Given the description of an element on the screen output the (x, y) to click on. 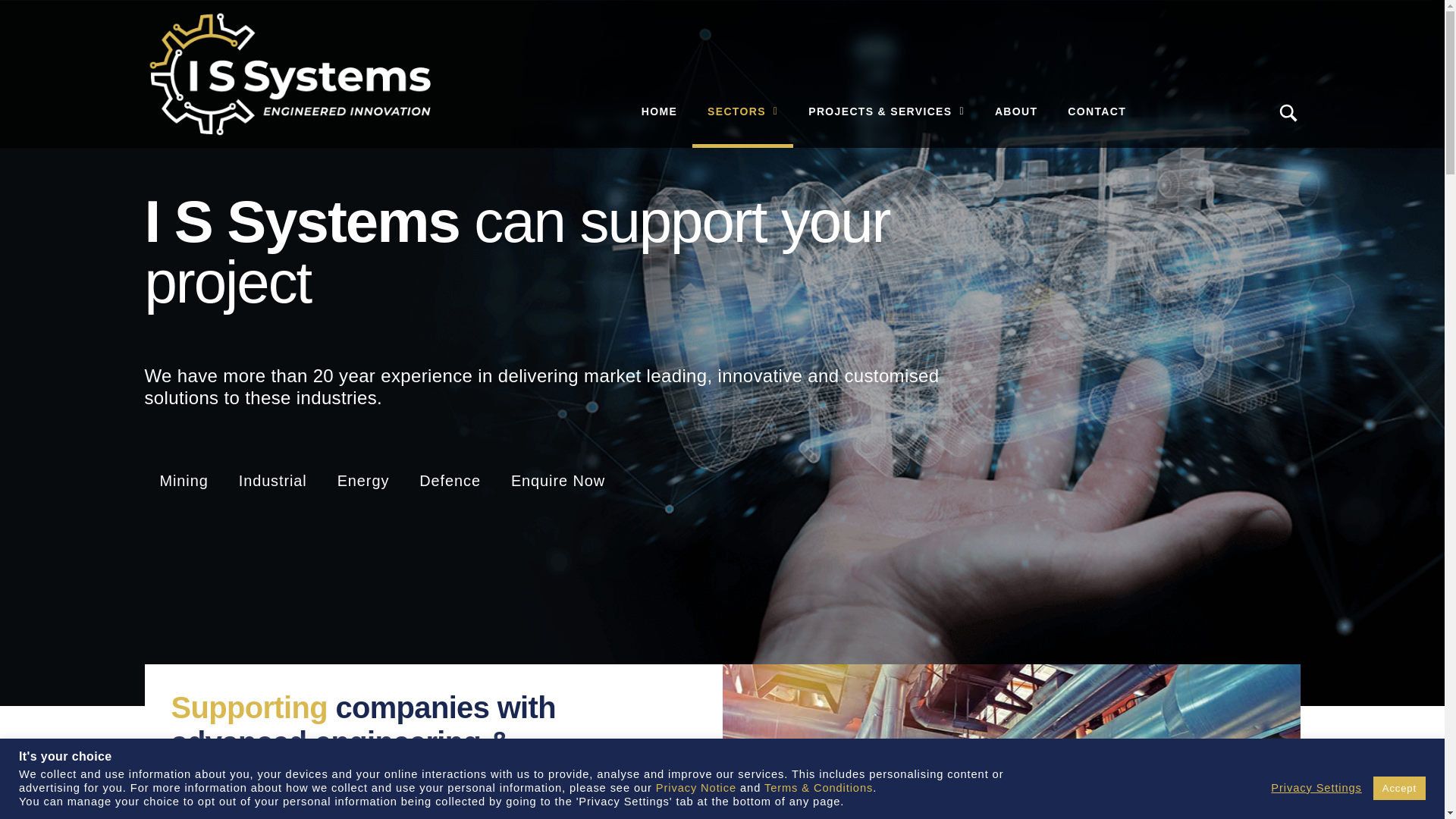
SECTORS (743, 111)
CONTACT (1096, 111)
ABOUT (1015, 111)
HOME (659, 111)
